Given the description of an element on the screen output the (x, y) to click on. 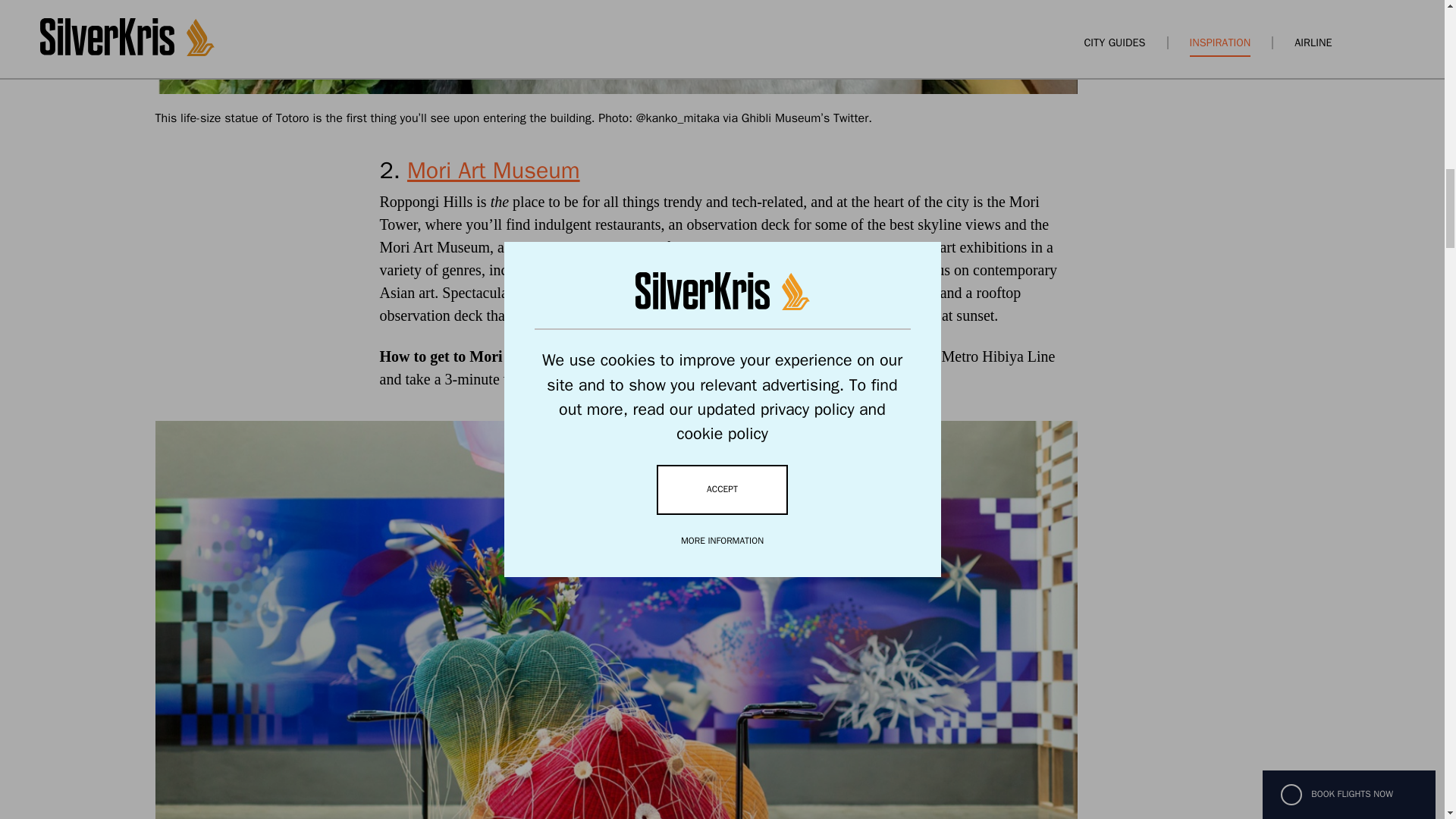
3rd party ad content (1258, 29)
Mori Art Museum (493, 170)
